Given the description of an element on the screen output the (x, y) to click on. 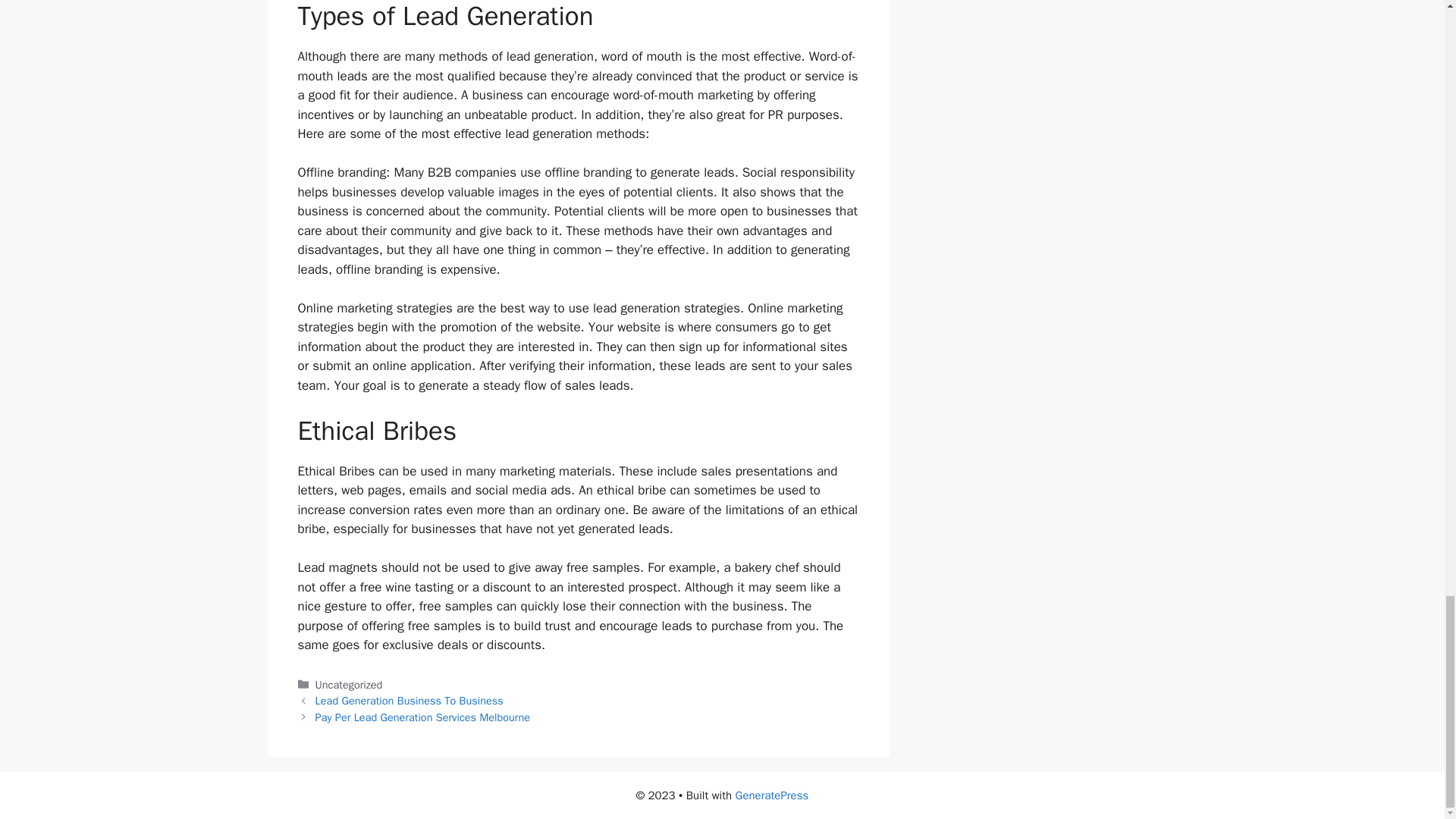
GeneratePress (772, 795)
Lead Generation Business To Business (409, 700)
Pay Per Lead Generation Services Melbourne (422, 716)
